Given the description of an element on the screen output the (x, y) to click on. 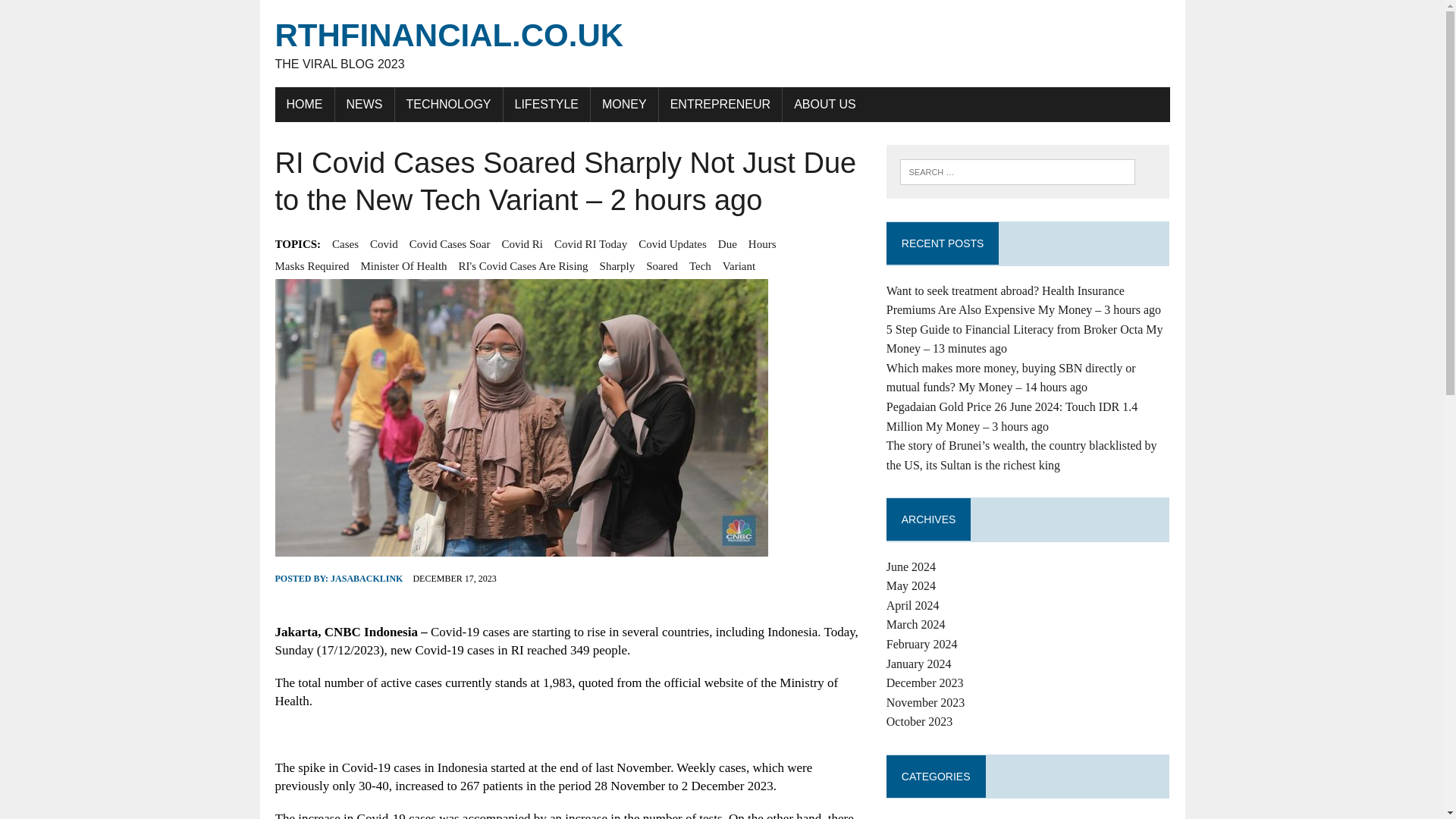
TECHNOLOGY (448, 104)
Covid Updates (672, 244)
Covid Ri (521, 244)
Sharply (616, 266)
HOME (304, 104)
NEWS (722, 43)
Covid (364, 104)
Minister Of Health (383, 244)
Cases (402, 266)
